Given the description of an element on the screen output the (x, y) to click on. 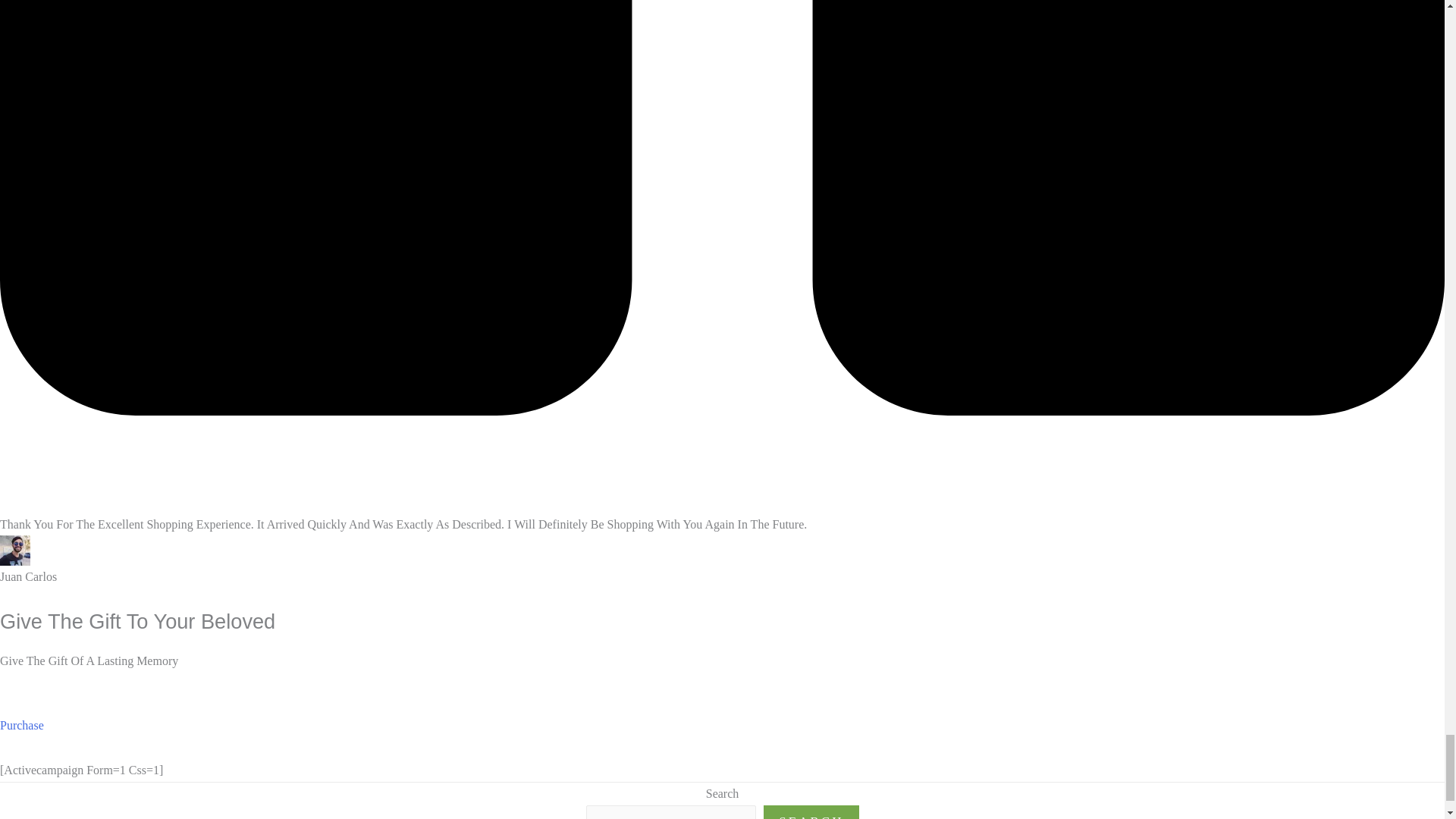
Purchase (21, 736)
SEARCH (810, 812)
